Given the description of an element on the screen output the (x, y) to click on. 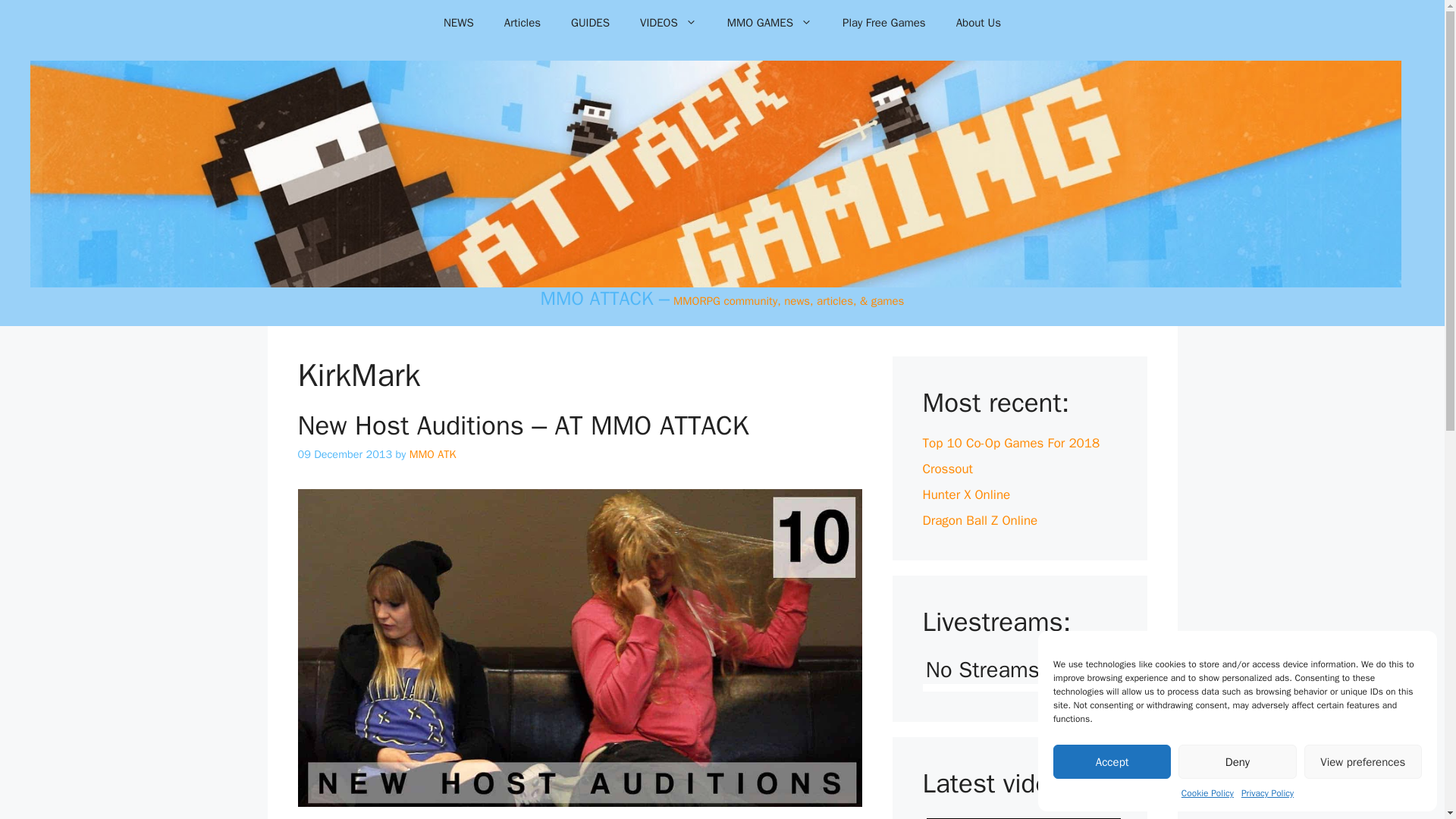
GUIDES (590, 22)
View all posts by MMO ATK (433, 454)
View preferences (1363, 761)
MMO GAMES (769, 22)
Cookie Policy (1206, 793)
VIDEOS (667, 22)
Deny (1236, 761)
Articles (522, 22)
Accept (1111, 761)
NEWS (458, 22)
Privacy Policy (1267, 793)
